Given the description of an element on the screen output the (x, y) to click on. 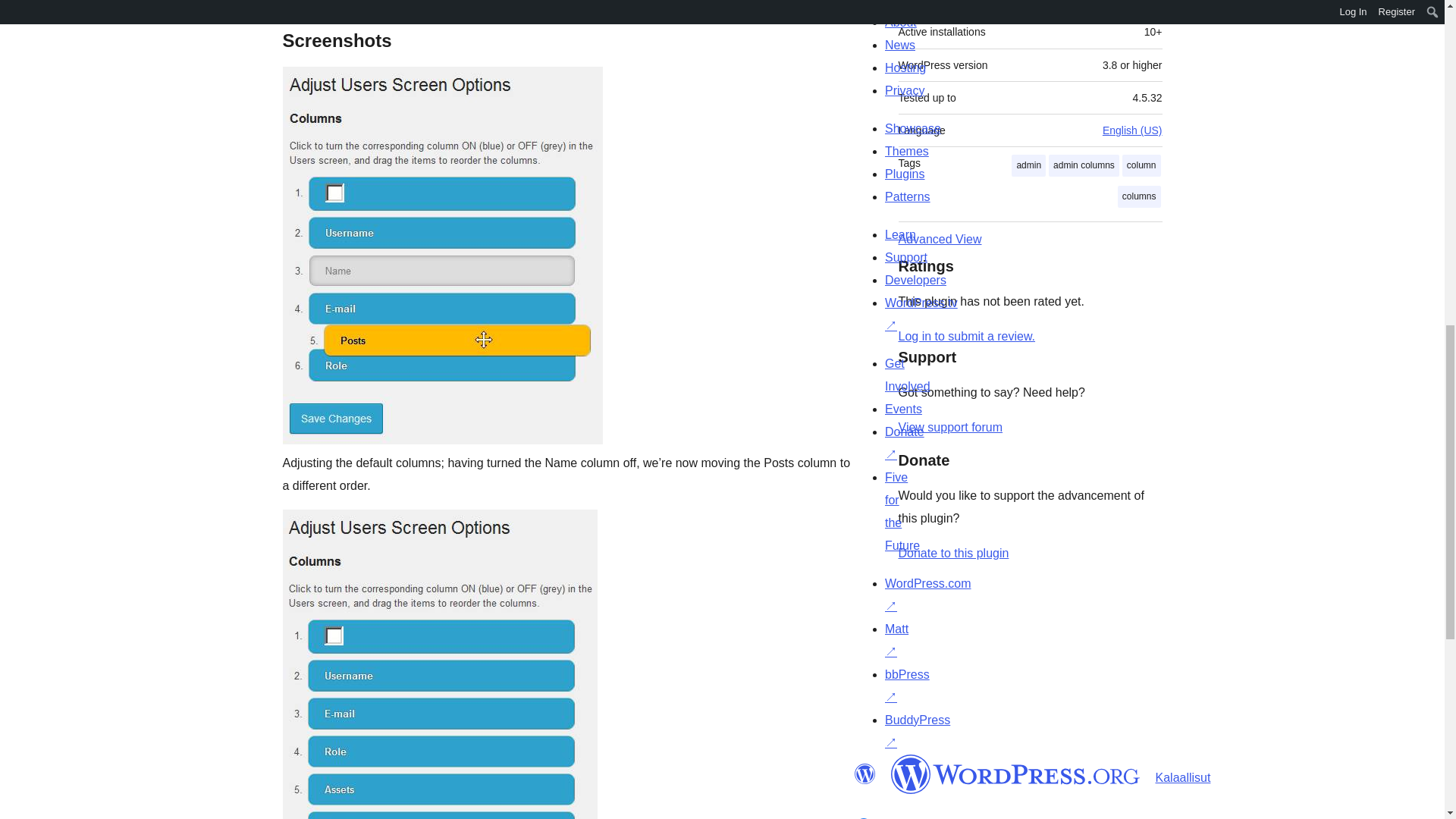
WordPress.org (864, 773)
Log in to WordPress.org (966, 336)
WordPress.org (1014, 773)
